Given the description of an element on the screen output the (x, y) to click on. 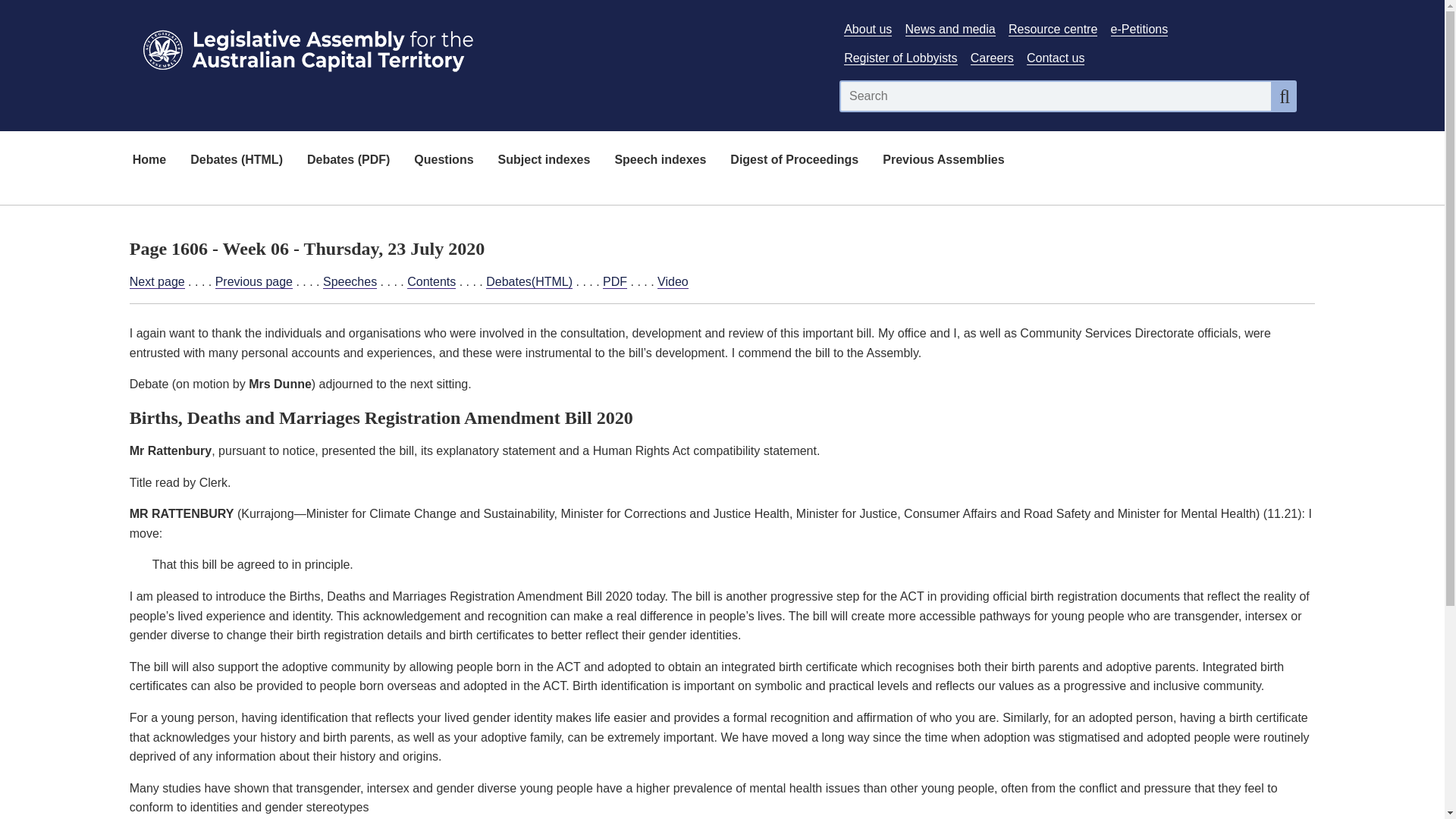
Questions (442, 160)
Speech indexes (659, 160)
Link to Contact Us (1055, 58)
PDF (614, 282)
Next page (156, 282)
Link to Homepage (475, 46)
Careers (992, 58)
News and media (950, 29)
Link to Careers (992, 58)
About us (867, 29)
Resource centre (1053, 29)
Link to Resource centre (1053, 29)
Register of Lobbyists (900, 58)
Home (148, 160)
Search input field (1056, 96)
